Given the description of an element on the screen output the (x, y) to click on. 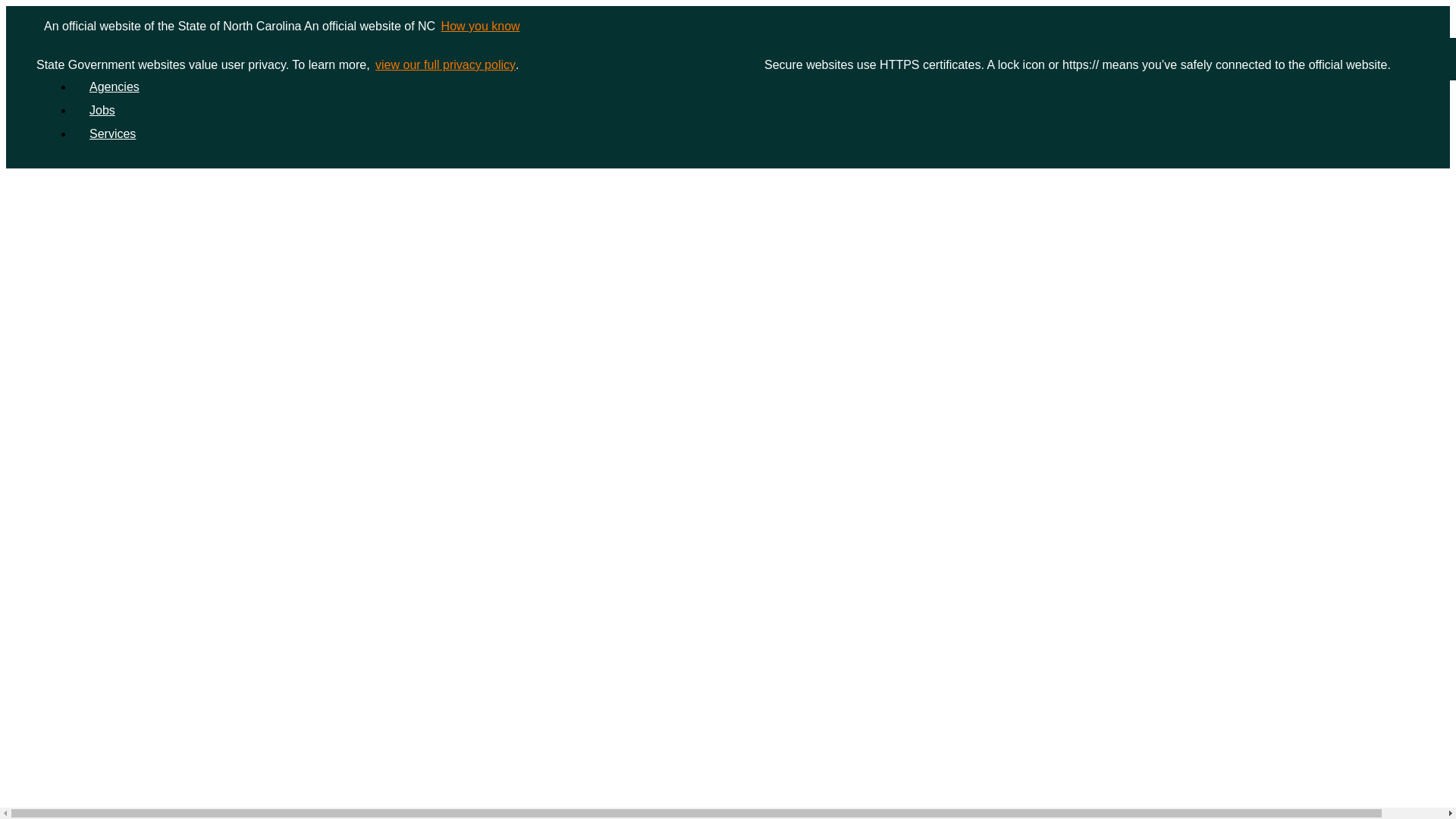
Services (112, 133)
How you know (479, 26)
Jobs (102, 110)
Agencies (114, 86)
view our full privacy policy (443, 65)
Skip to main content (728, 7)
NC.gov (101, 62)
